Given the description of an element on the screen output the (x, y) to click on. 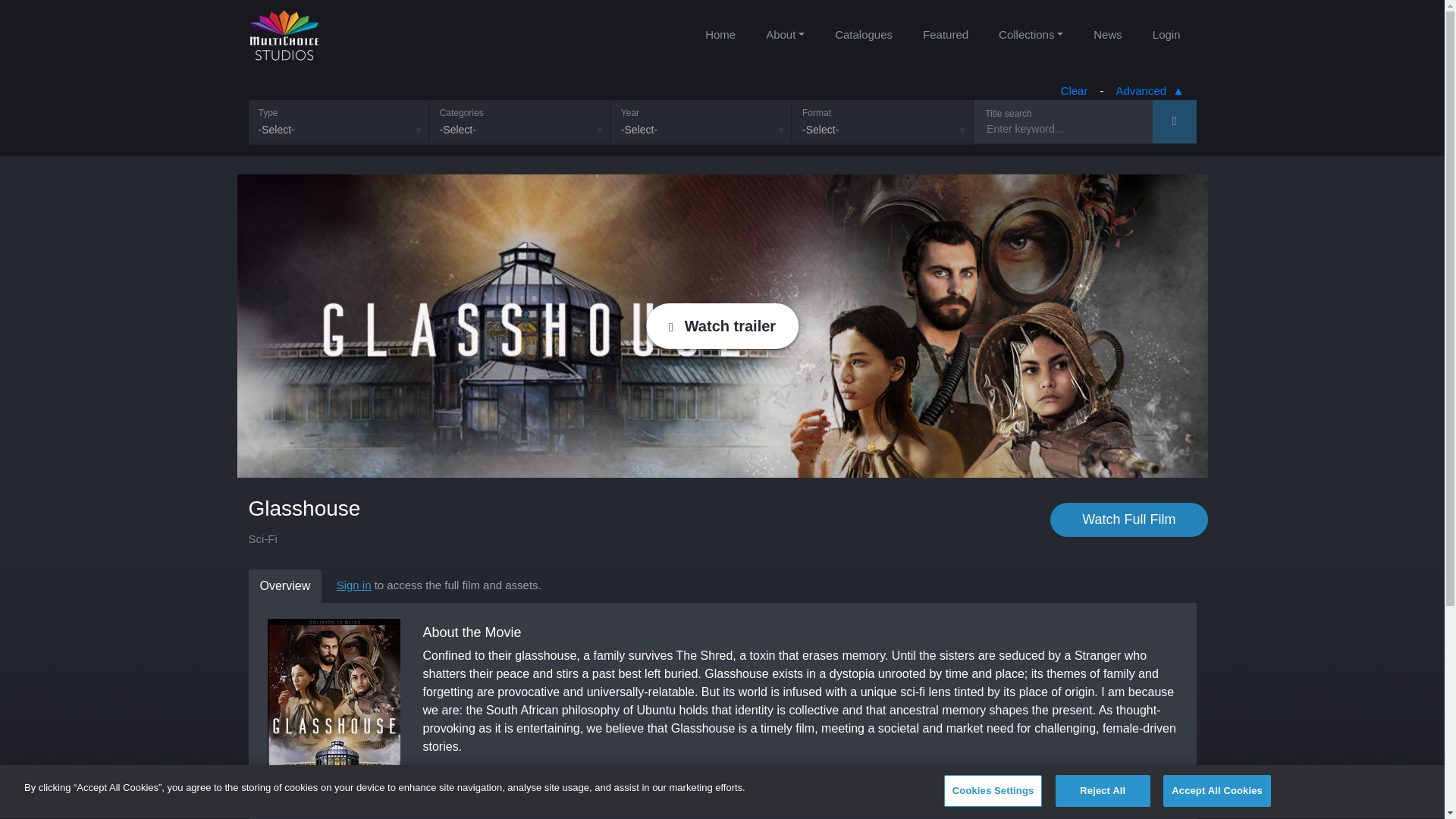
Collections (1031, 34)
Login (1166, 34)
News (1107, 34)
Catalogues (863, 34)
Home (720, 34)
About (785, 34)
Featured (945, 34)
-Select- (520, 121)
Clear (1074, 90)
-Select- (338, 121)
